Given the description of an element on the screen output the (x, y) to click on. 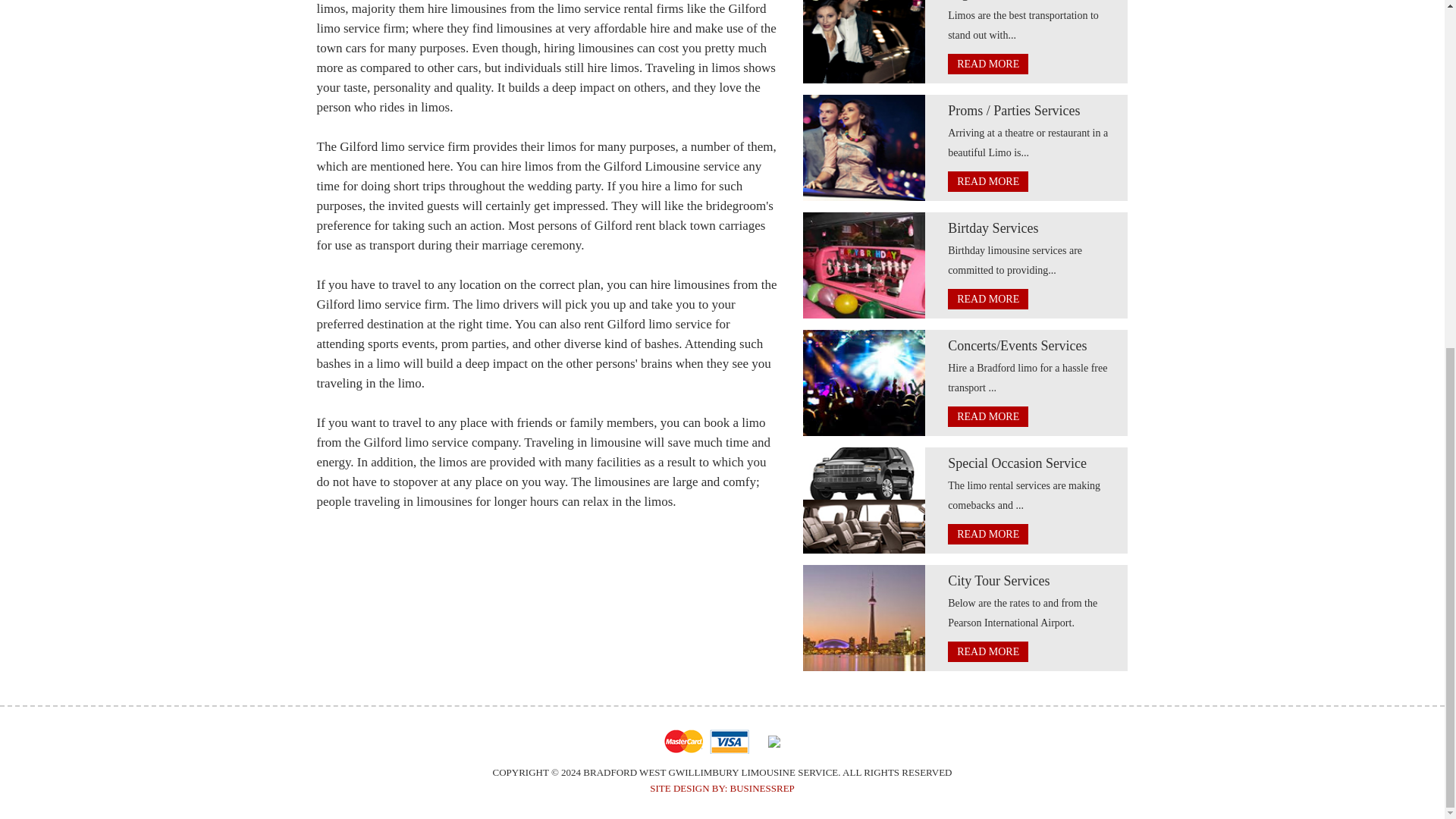
READ MORE (987, 416)
READ MORE (987, 64)
READ MORE (987, 651)
BUSINESSREP (762, 787)
READ MORE (987, 181)
READ MORE (987, 534)
READ MORE (987, 299)
